Given the description of an element on the screen output the (x, y) to click on. 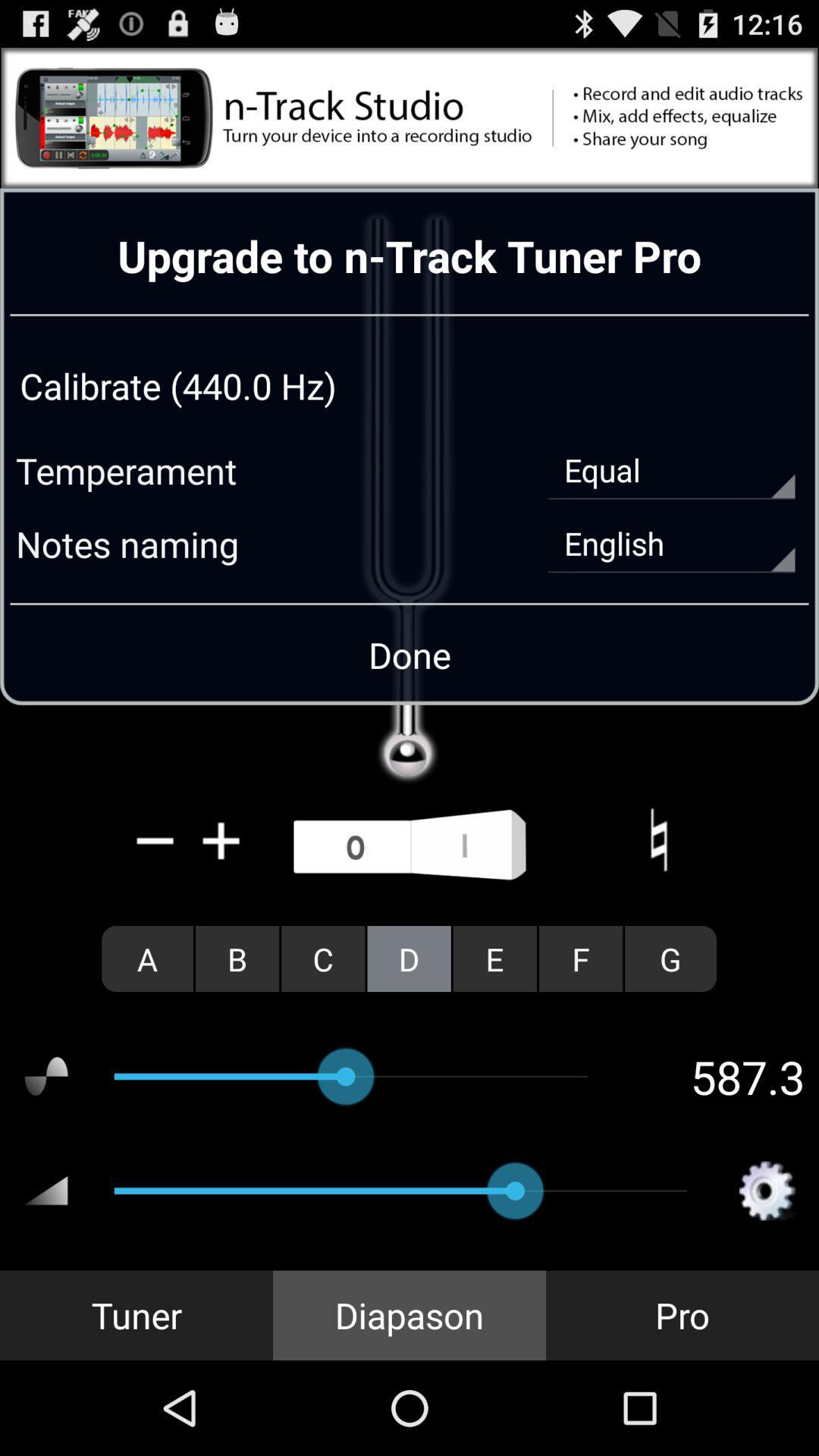
turn on the radio button next to the b icon (323, 958)
